Given the description of an element on the screen output the (x, y) to click on. 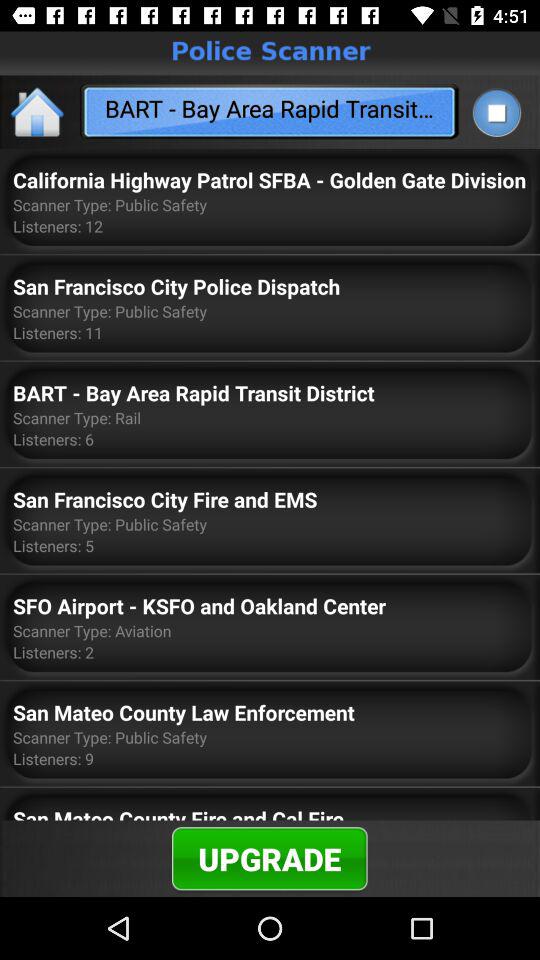
turn off the item below the san mateo county icon (269, 858)
